Given the description of an element on the screen output the (x, y) to click on. 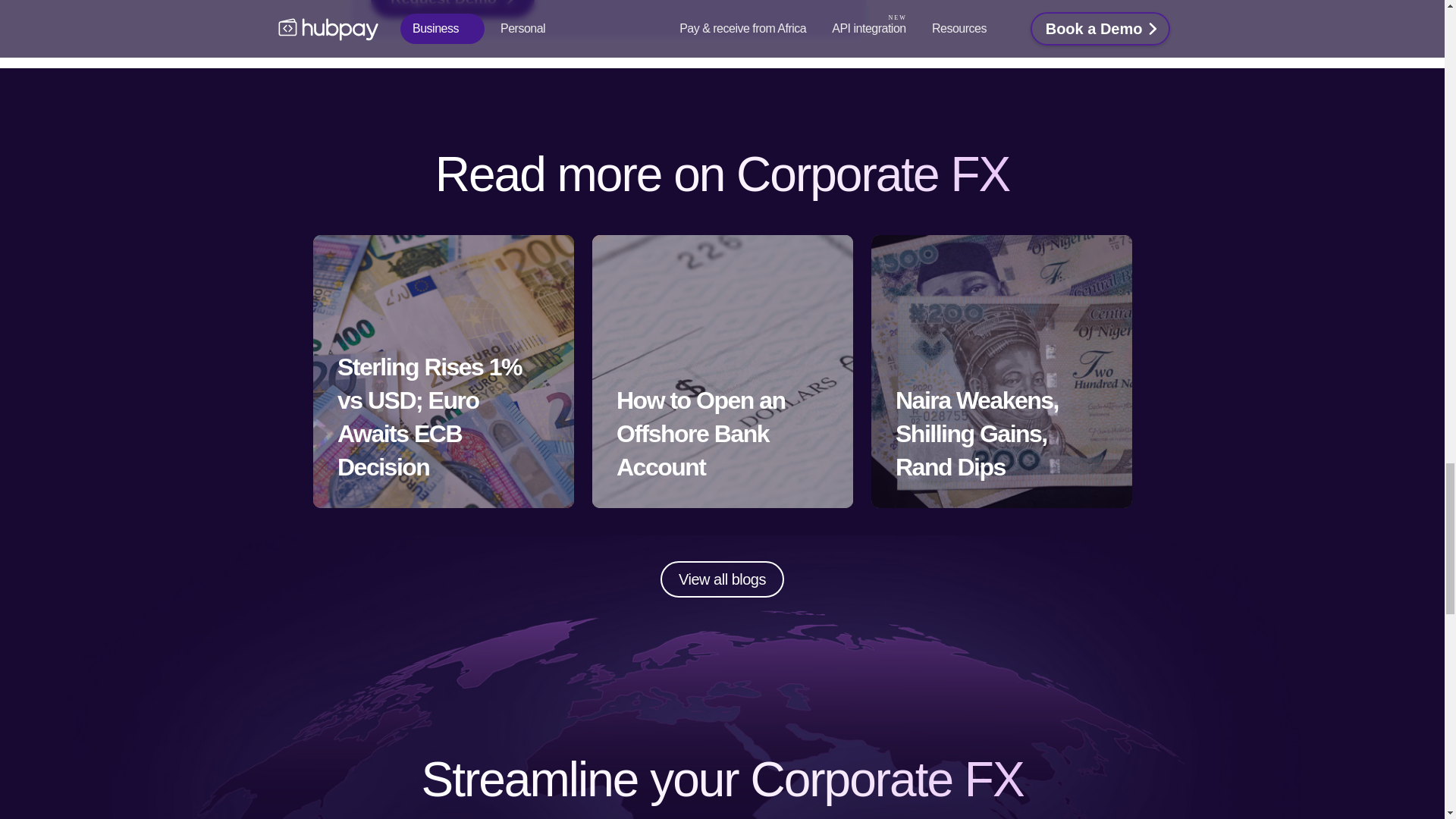
Naira Weakens, Shilling Gains, Rand Dips (1000, 371)
How to Open an Offshore Bank Account (721, 371)
View all blogs (722, 579)
Request Demo (451, 9)
